Given the description of an element on the screen output the (x, y) to click on. 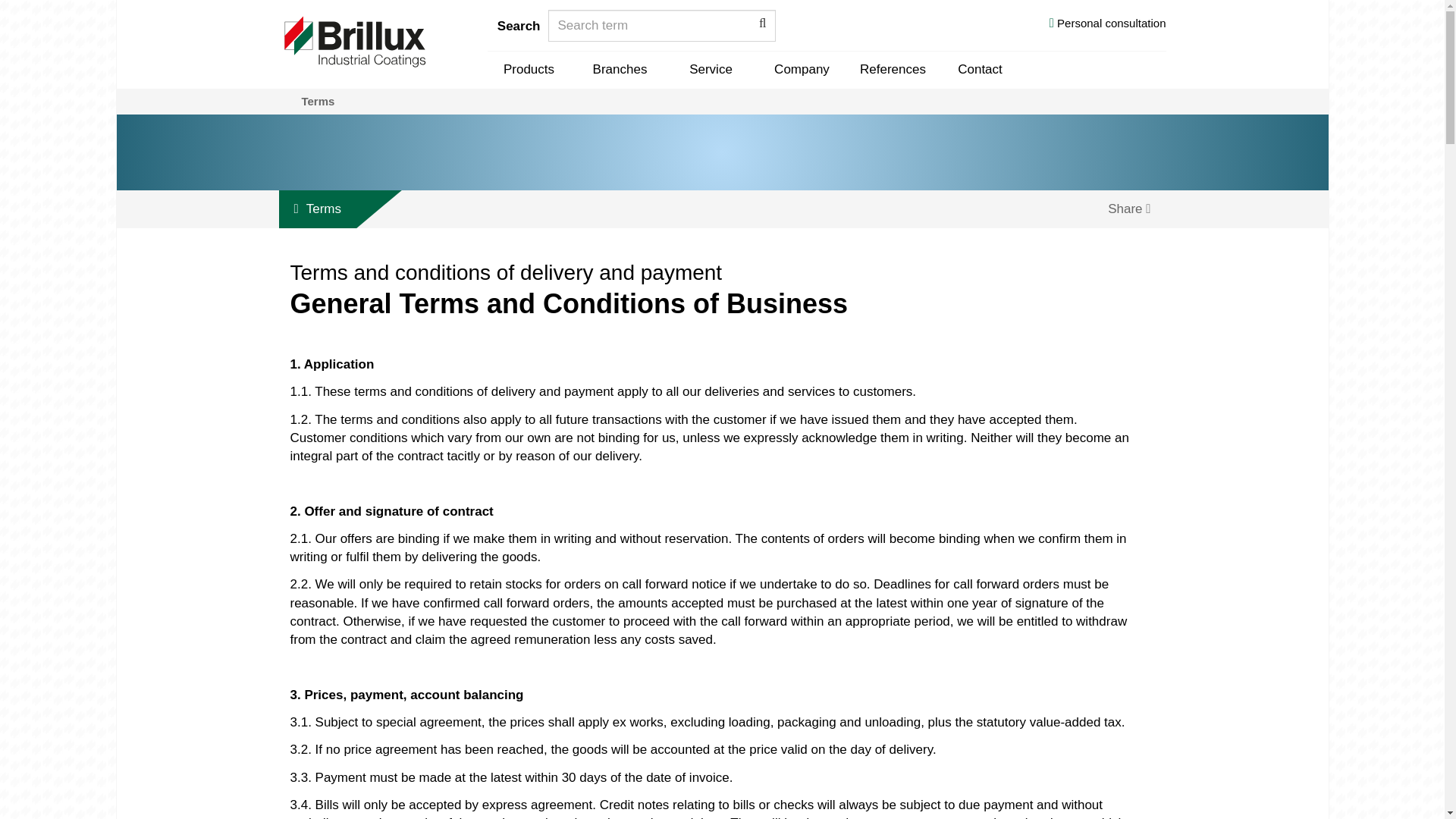
Service (710, 69)
Personal consultation (1107, 25)
Branches (619, 69)
Products (528, 69)
Company (801, 69)
